Given the description of an element on the screen output the (x, y) to click on. 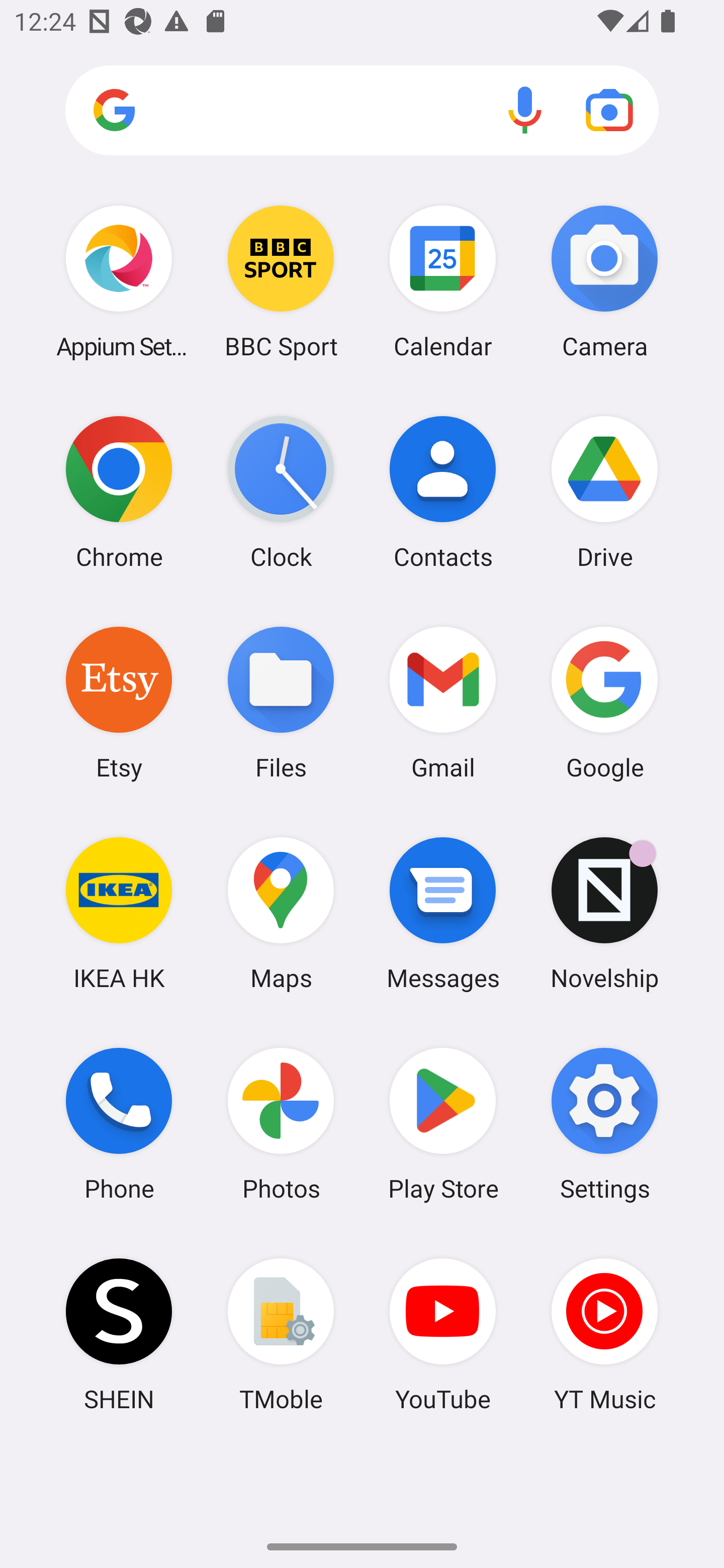
Search apps, web and more (361, 110)
Voice search (524, 109)
Google Lens (608, 109)
Appium Settings (118, 281)
BBC Sport (280, 281)
Calendar (443, 281)
Camera (604, 281)
Chrome (118, 492)
Clock (280, 492)
Contacts (443, 492)
Drive (604, 492)
Etsy (118, 702)
Files (280, 702)
Gmail (443, 702)
Google (604, 702)
IKEA HK (118, 913)
Maps (280, 913)
Messages (443, 913)
Novelship Novelship has 7 notifications (604, 913)
Phone (118, 1124)
Photos (280, 1124)
Play Store (443, 1124)
Settings (604, 1124)
SHEIN (118, 1334)
TMoble (280, 1334)
YouTube (443, 1334)
YT Music (604, 1334)
